Given the description of an element on the screen output the (x, y) to click on. 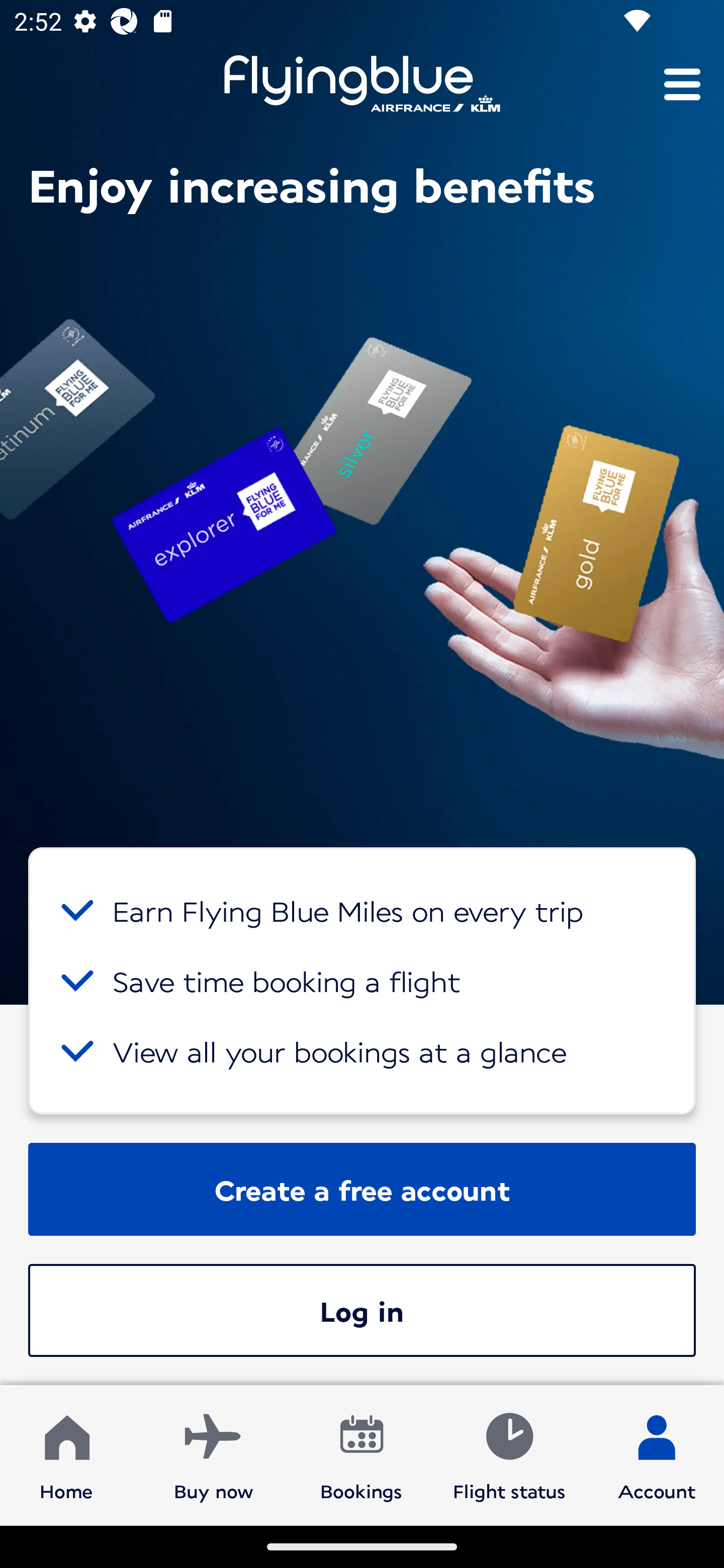
Create a free account (361, 1189)
Log in (361, 1309)
Home (66, 1454)
Buy now (213, 1454)
Bookings (361, 1454)
Flight status (509, 1454)
